Given the description of an element on the screen output the (x, y) to click on. 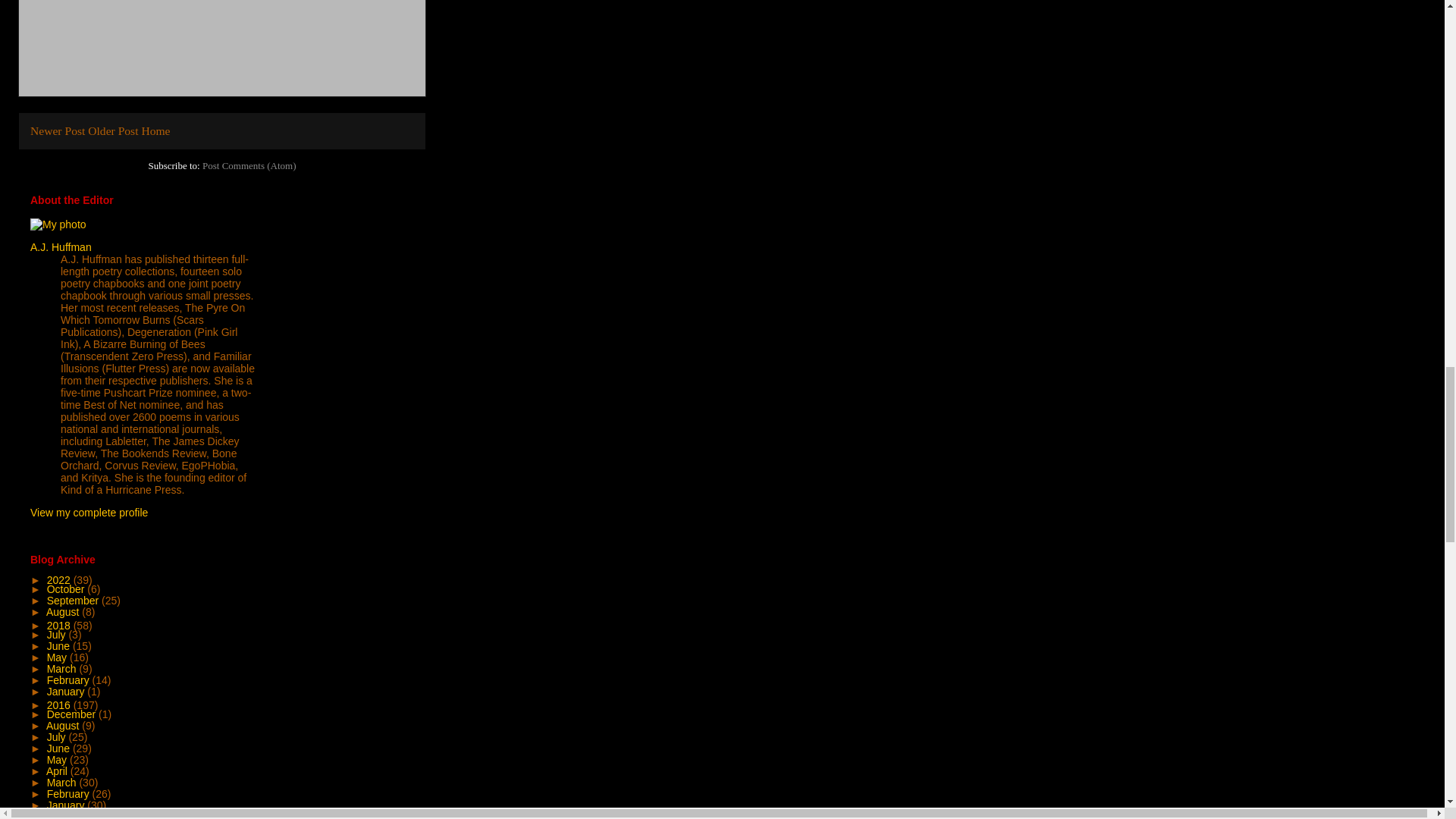
August (63, 612)
A.J. Huffman (60, 246)
Home (155, 130)
September (73, 600)
View my complete profile (89, 512)
Newer Post (57, 130)
June (59, 645)
October (66, 589)
July (57, 634)
2022 (60, 580)
Older Post (112, 130)
Older Post (112, 130)
May (57, 657)
2018 (60, 625)
Newer Post (57, 130)
